Given the description of an element on the screen output the (x, y) to click on. 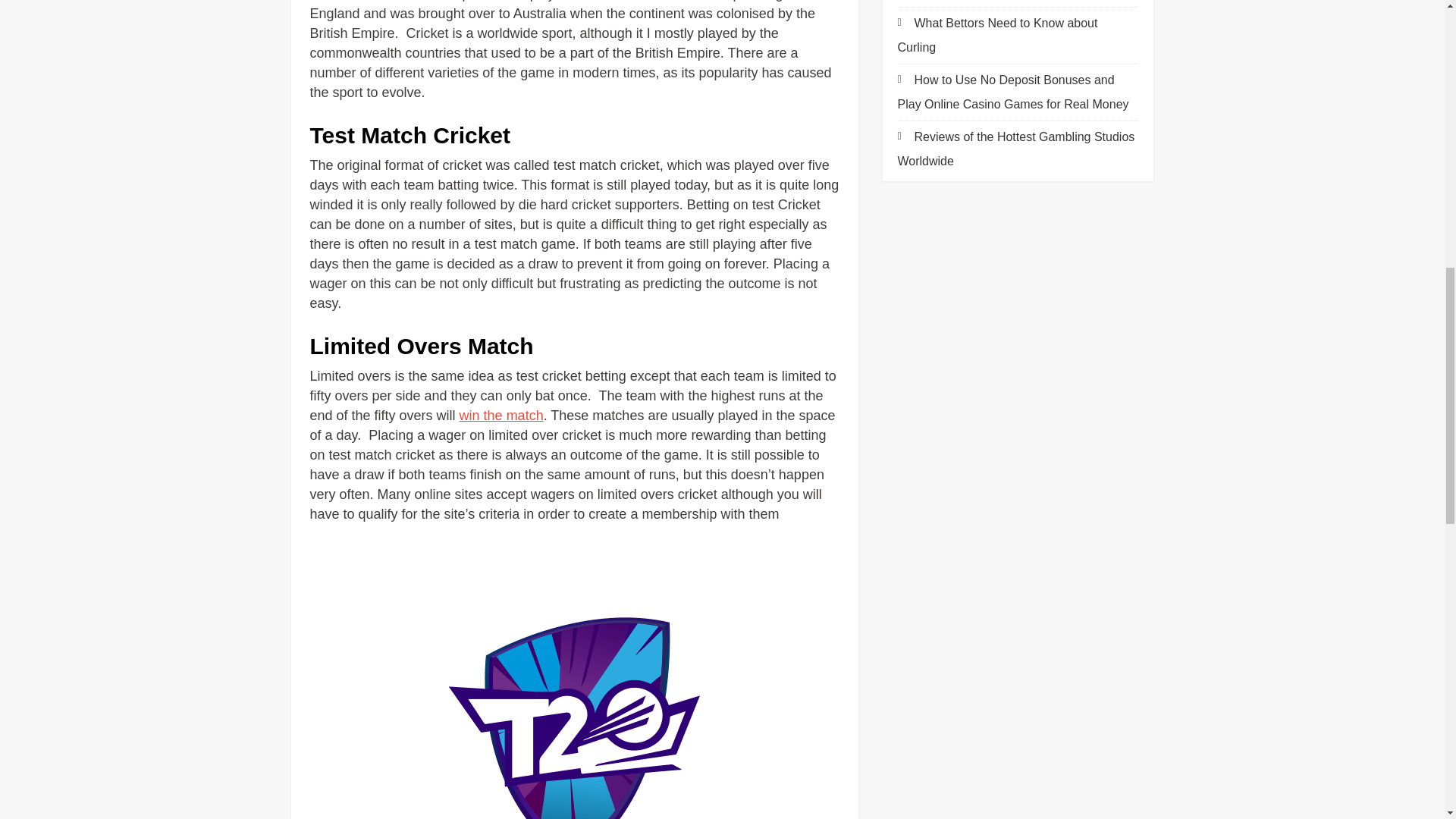
What Bettors Need to Know about Curling (997, 35)
win the match (501, 415)
Reviews of the Hottest Gambling Studios Worldwide (1016, 148)
